Given the description of an element on the screen output the (x, y) to click on. 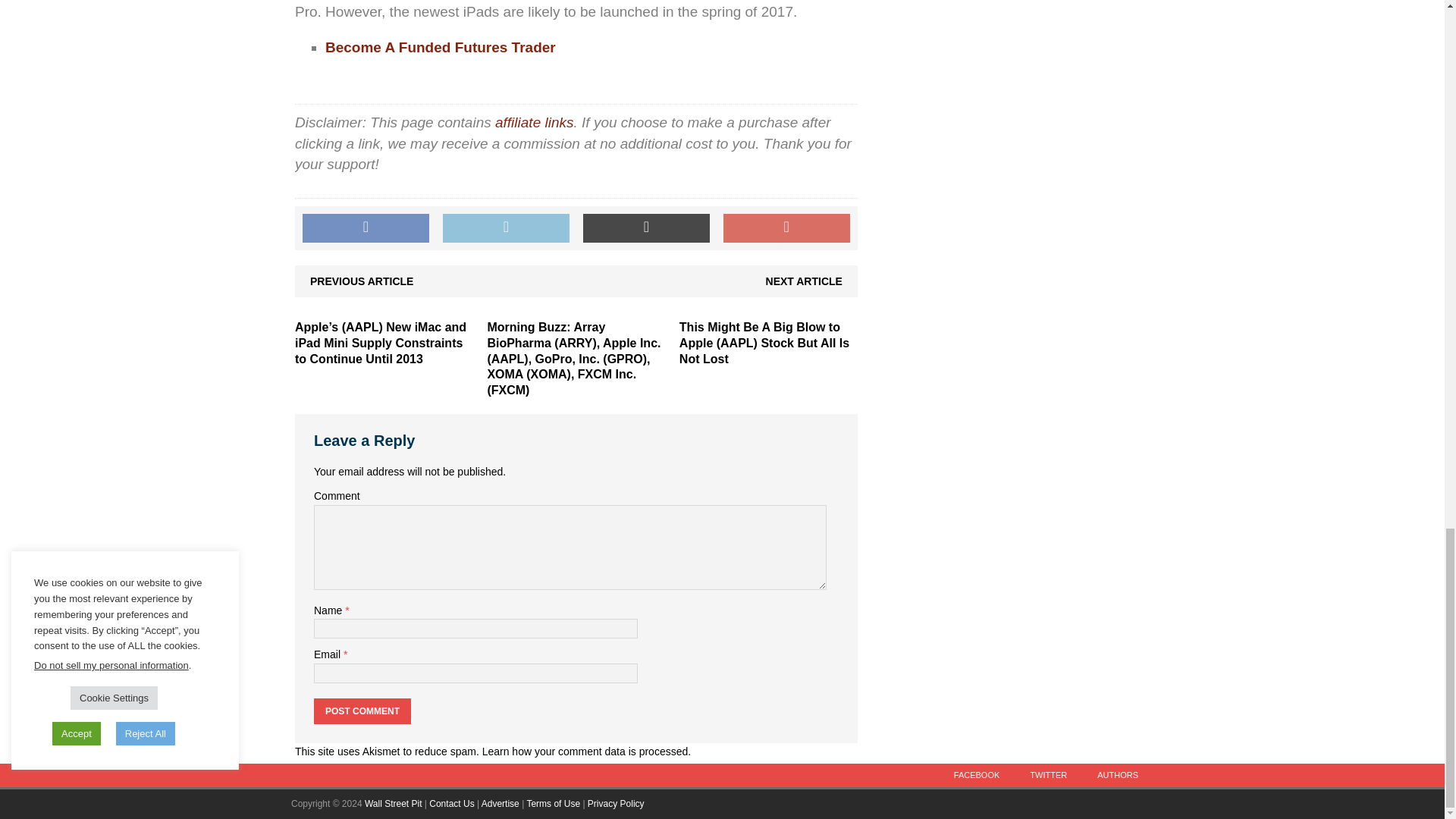
Post Comment (362, 710)
Share on Facebook (365, 227)
Share on Reddit (646, 227)
Tweet This Post (505, 227)
